Given the description of an element on the screen output the (x, y) to click on. 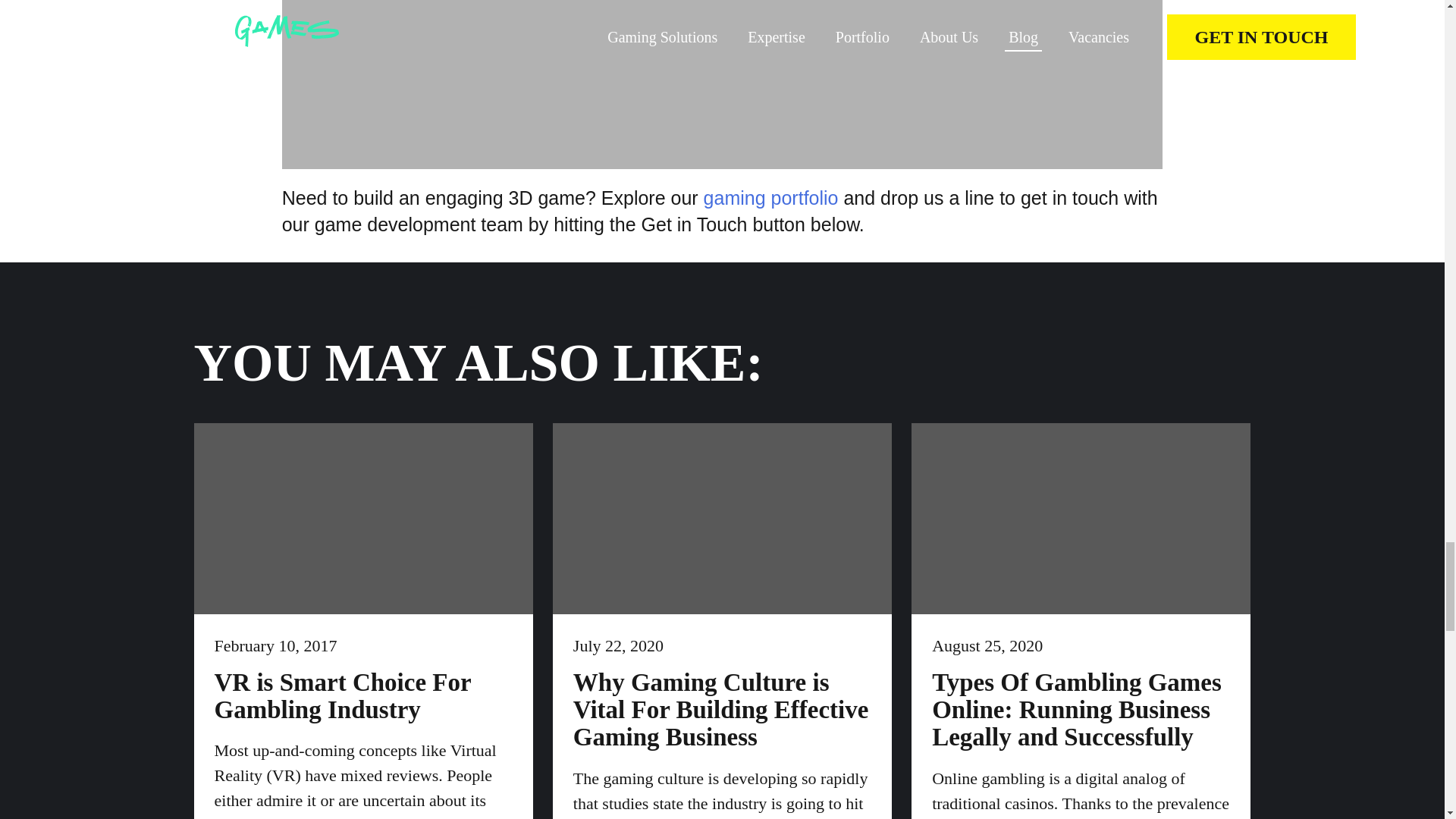
gaming portfolio (770, 197)
